Given the description of an element on the screen output the (x, y) to click on. 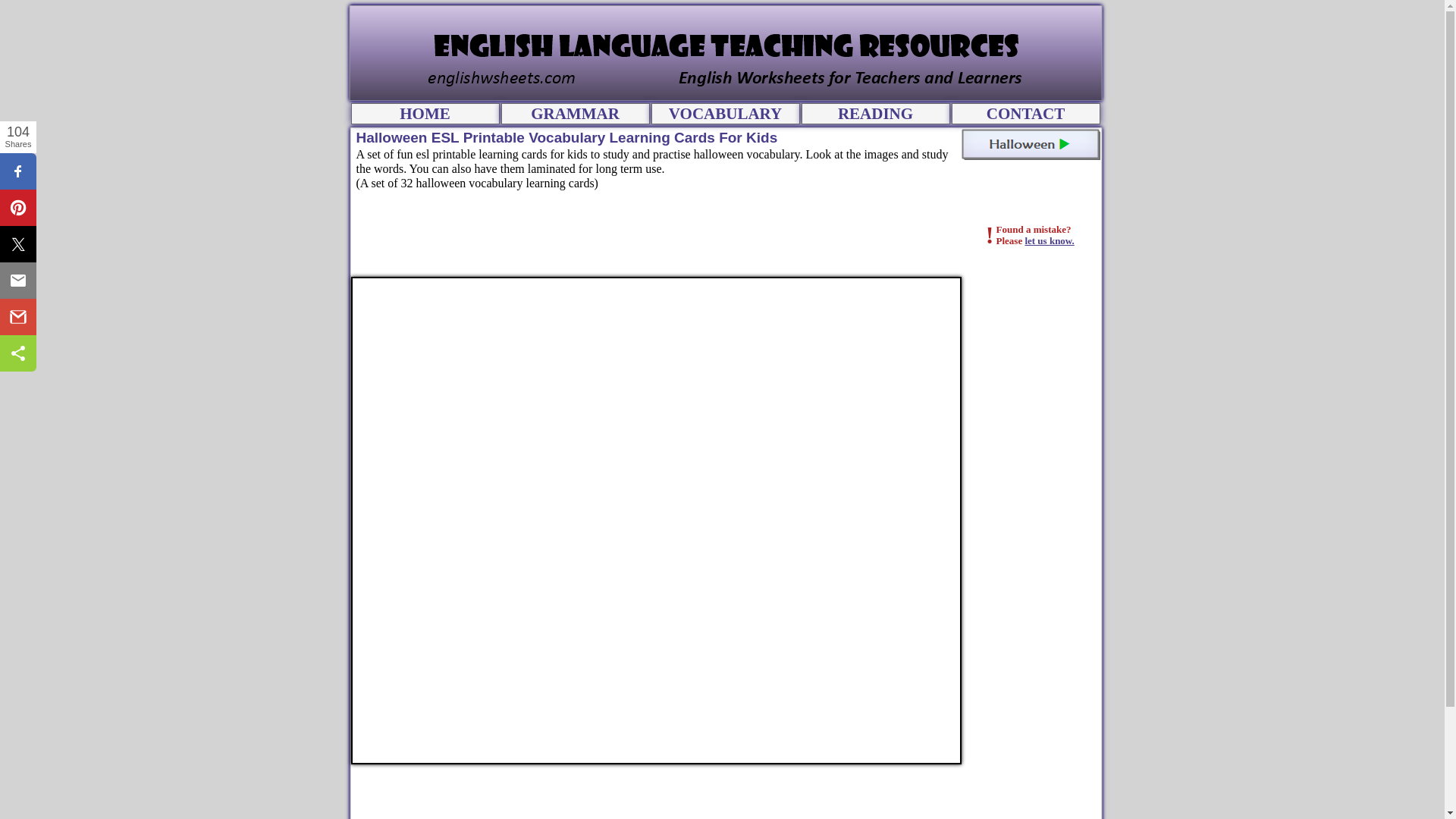
Advertisement (684, 239)
let us know. (1049, 240)
READING (874, 113)
VOCABULARY (724, 113)
GRAMMAR (574, 113)
HOME (424, 113)
Halloween Main Page (1030, 144)
CONTACT (1024, 113)
Advertisement (725, 794)
